Given the description of an element on the screen output the (x, y) to click on. 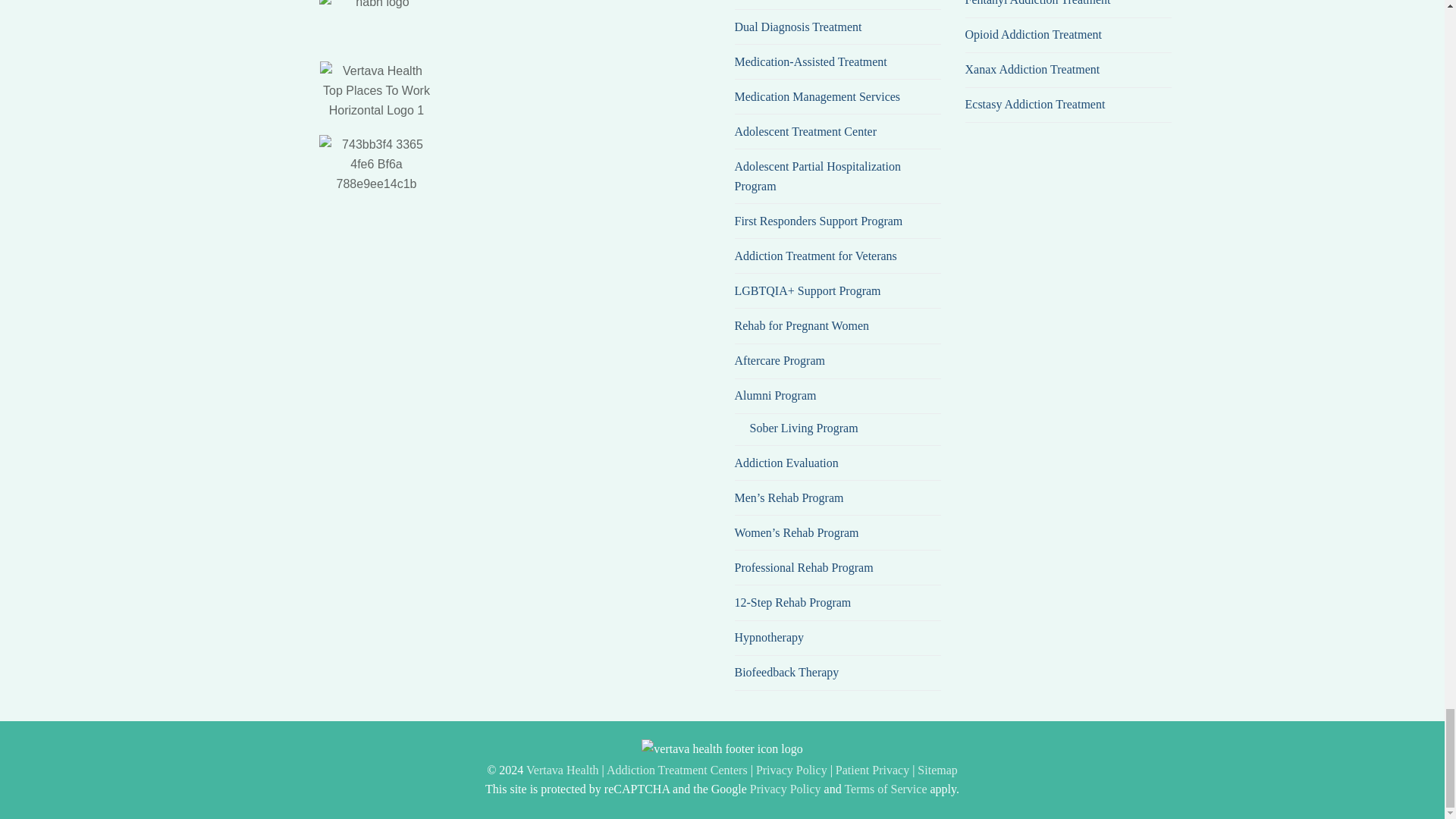
nabh-logo-footer (375, 22)
Vertava Health Top Places To Work Horizontal Logo  1 (376, 90)
